Given the description of an element on the screen output the (x, y) to click on. 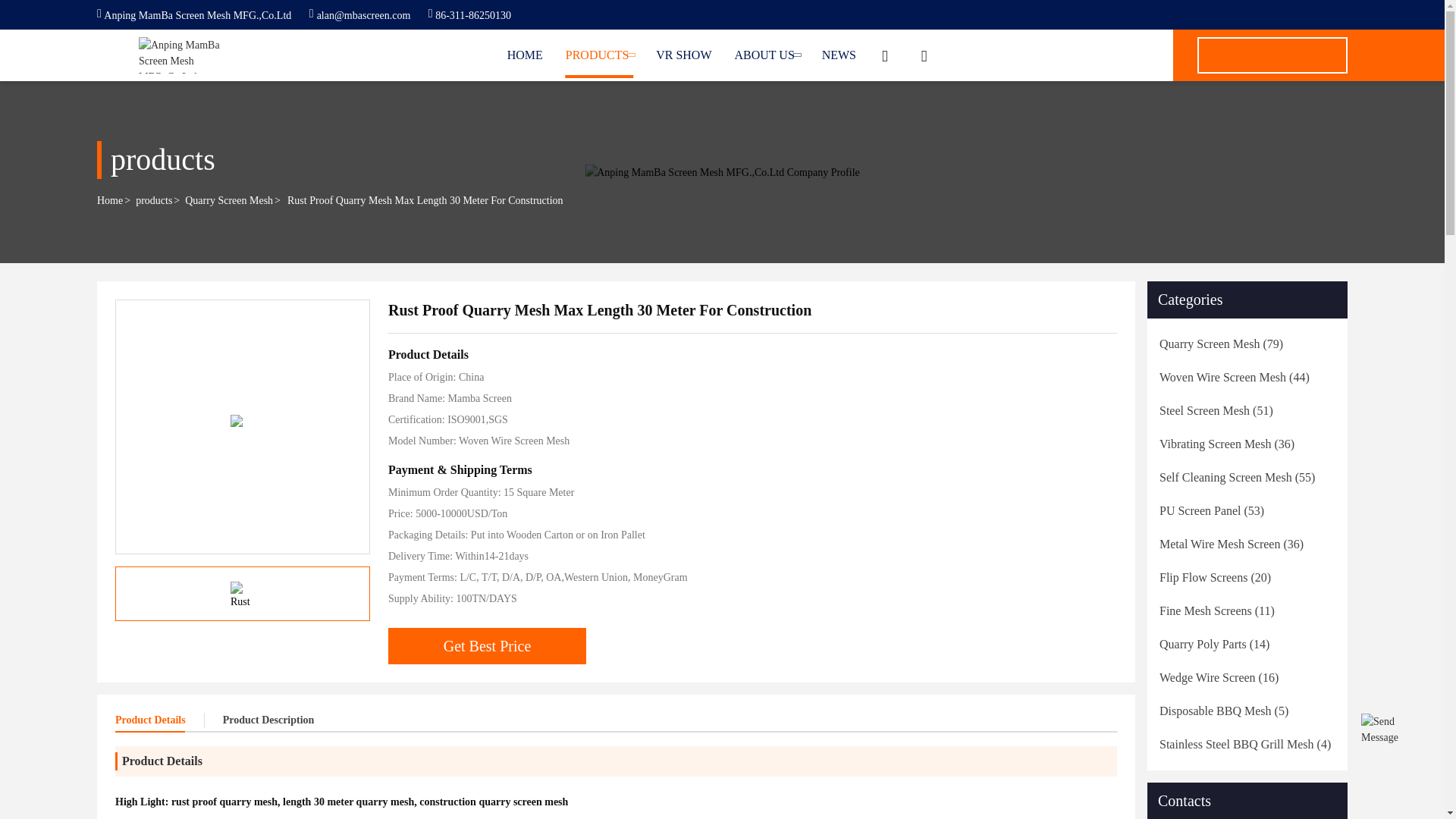
PRODUCTS (599, 55)
ABOUT US (767, 55)
Products (599, 55)
86-311-86250130 (469, 15)
VR SHOW (683, 55)
